Given the description of an element on the screen output the (x, y) to click on. 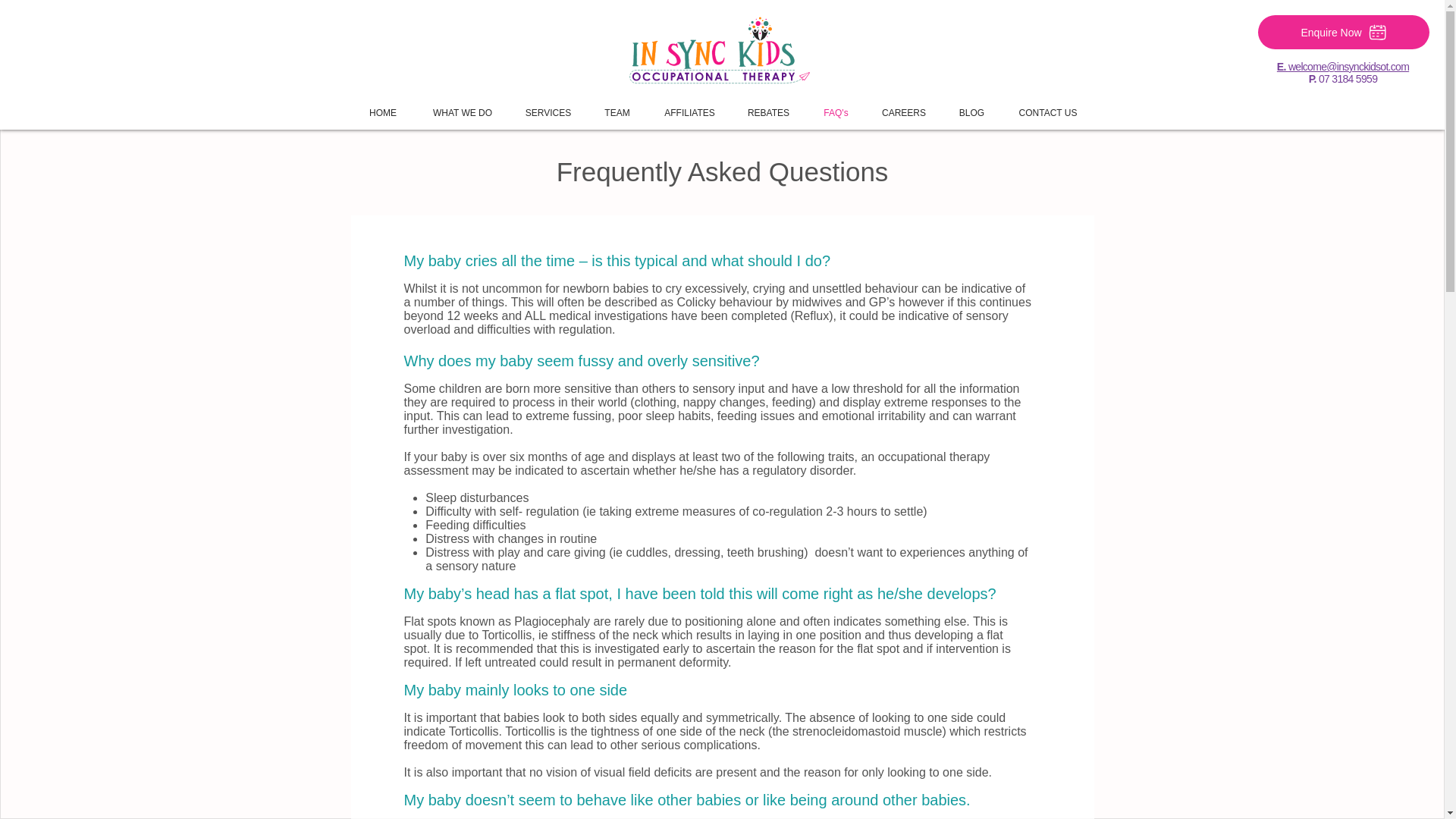
BLOG (972, 106)
AFFILIATES (688, 106)
FAQ's (835, 106)
CONTACT US (1048, 106)
Enquire Now (1343, 32)
HOME (382, 106)
P. 07 3184 5959 (1342, 78)
TEAM (616, 106)
SERVICES (547, 106)
REBATES (767, 106)
